Given the description of an element on the screen output the (x, y) to click on. 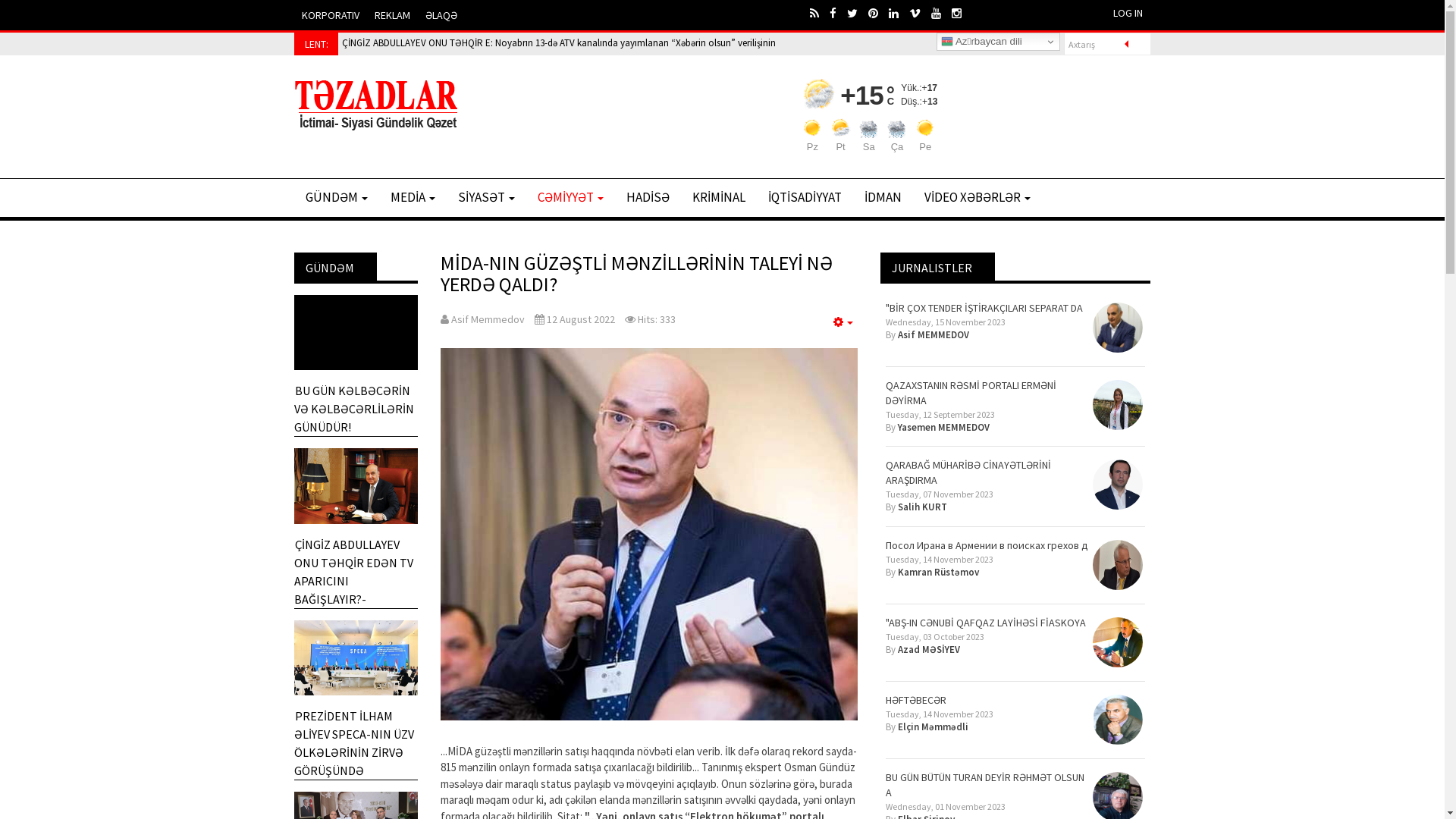
  Element type: text (961, 13)
KORPORATIV Element type: text (330, 15)
  Element type: text (838, 13)
  Element type: text (898, 13)
  Element type: text (920, 13)
Asif MEMMEDOV Element type: text (933, 334)
Salih KURT Element type: text (922, 506)
  Element type: text (878, 13)
REKLAM Element type: text (392, 15)
  Element type: text (857, 13)
  Element type: text (941, 13)
Empty Element type: text (842, 321)
Yasemen MEMMEDOV Element type: text (943, 426)
  Element type: text (819, 13)
